Given the description of an element on the screen output the (x, y) to click on. 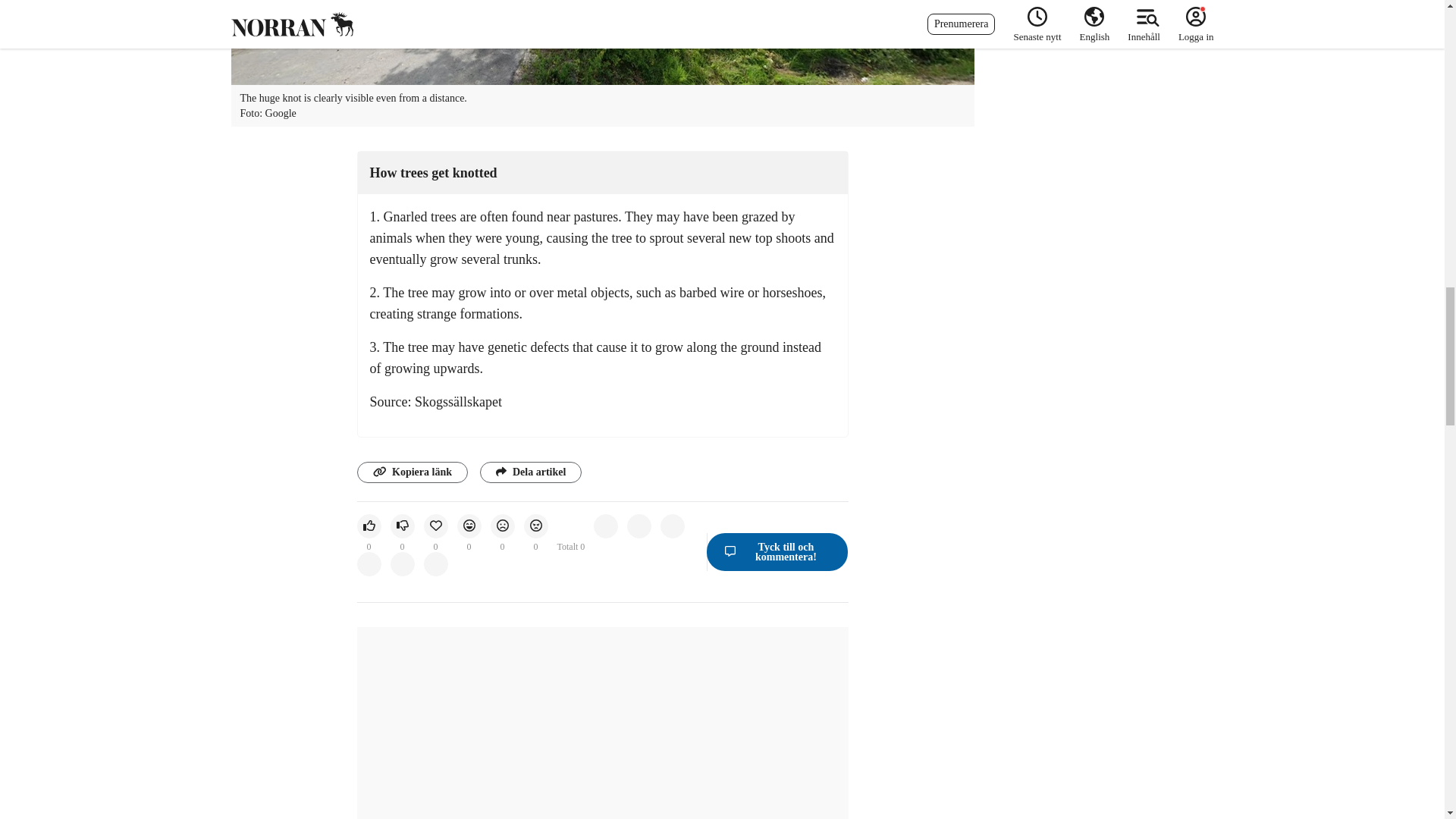
Glad (468, 526)
Ledsen (501, 526)
Tyck till och kommentera! (776, 551)
Dela artikel (530, 471)
Arg (534, 526)
Ogilla (401, 526)
Gilla (368, 526)
